Given the description of an element on the screen output the (x, y) to click on. 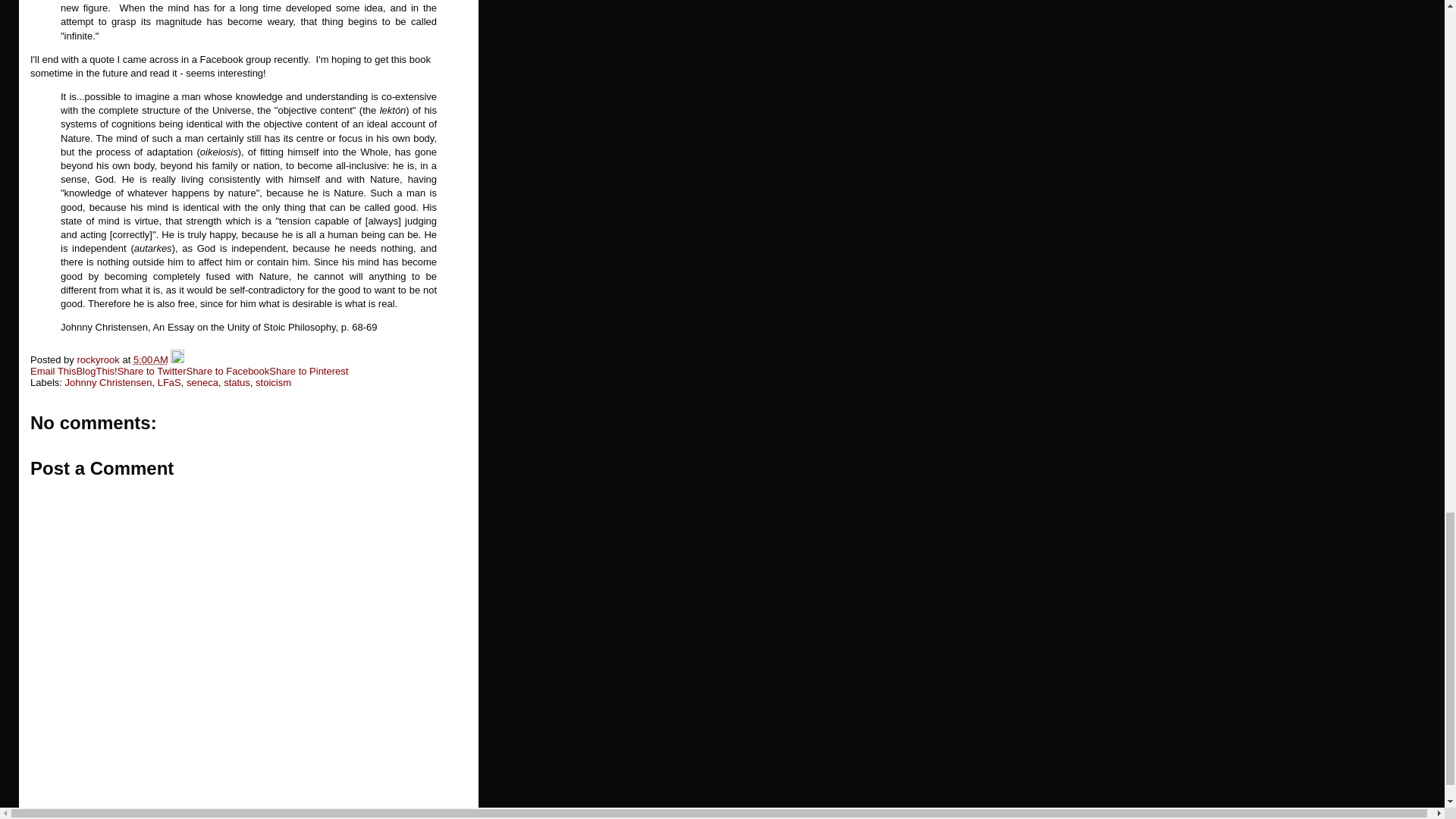
Johnny Christensen (108, 382)
stoicism (273, 382)
seneca (202, 382)
rockyrook (99, 359)
Share to Twitter (151, 370)
Share to Facebook (227, 370)
author profile (99, 359)
permanent link (150, 359)
Share to Facebook (227, 370)
